Given the description of an element on the screen output the (x, y) to click on. 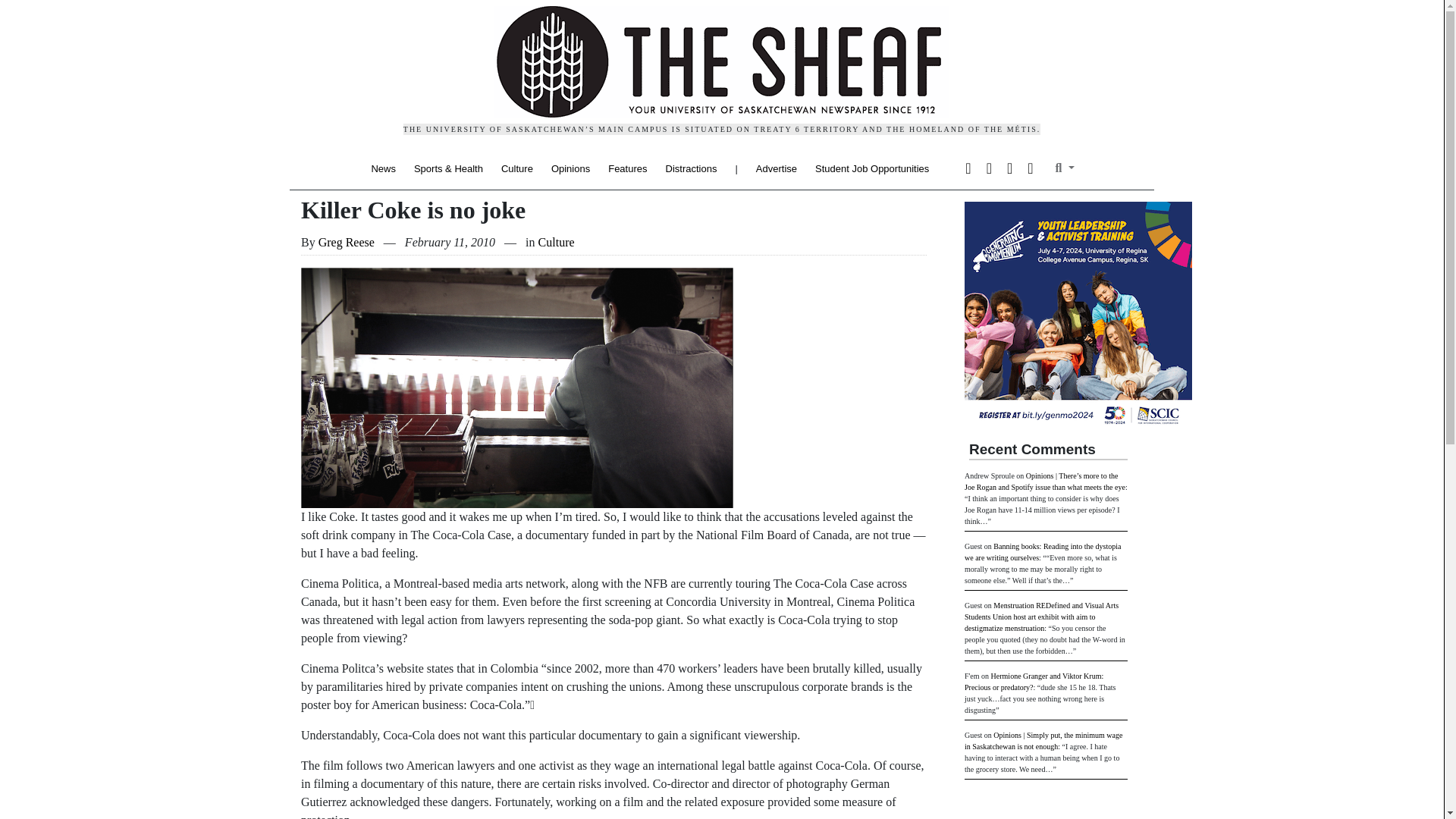
SCIC (1077, 315)
Coca Cola Case (517, 387)
Advertise (776, 168)
Features (627, 168)
Opinions (569, 168)
Distractions (691, 168)
Posts by Greg Reese (346, 241)
News (387, 168)
Culture (516, 168)
Student Job Opportunities (867, 168)
